Given the description of an element on the screen output the (x, y) to click on. 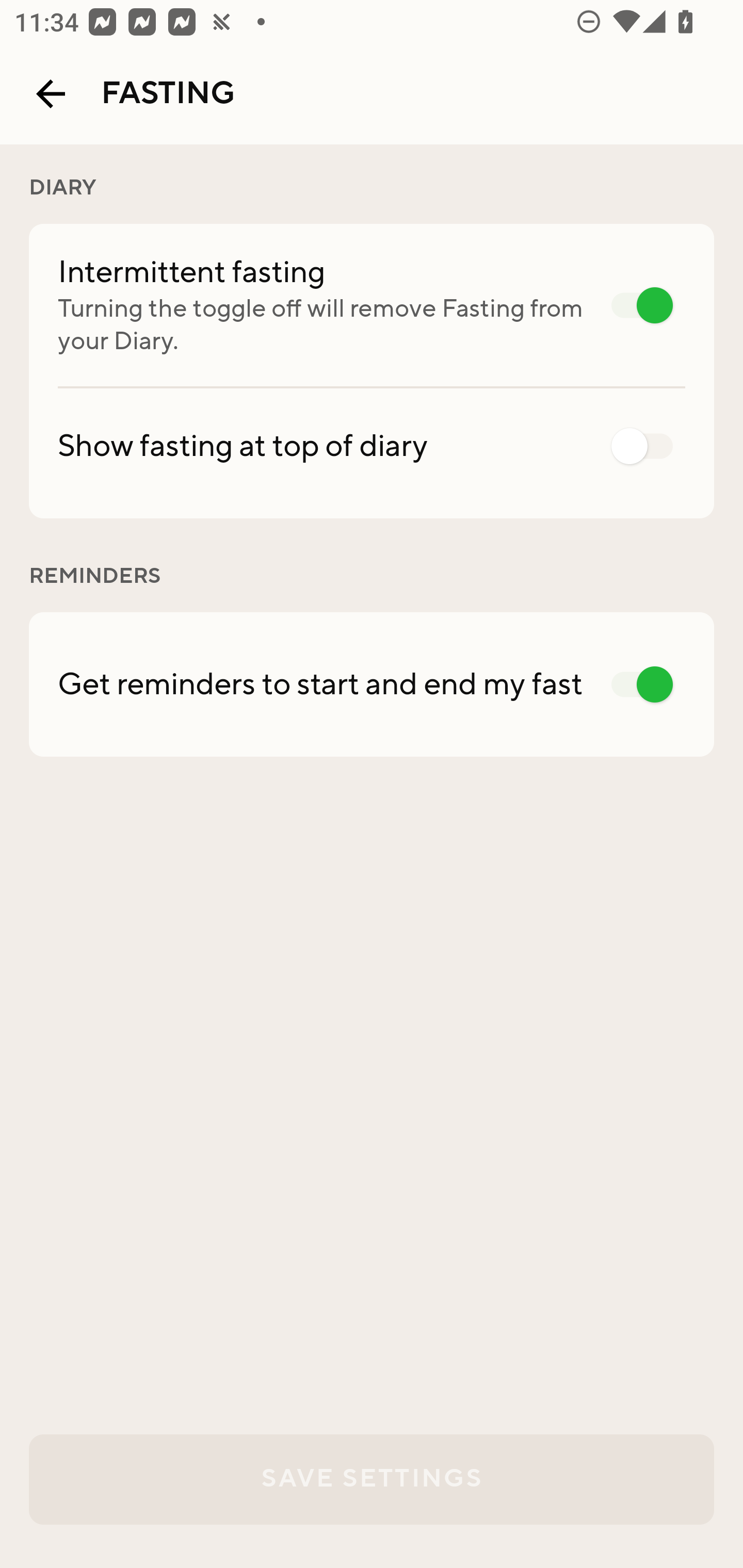
SAVE SETTINGS (371, 1479)
